Given the description of an element on the screen output the (x, y) to click on. 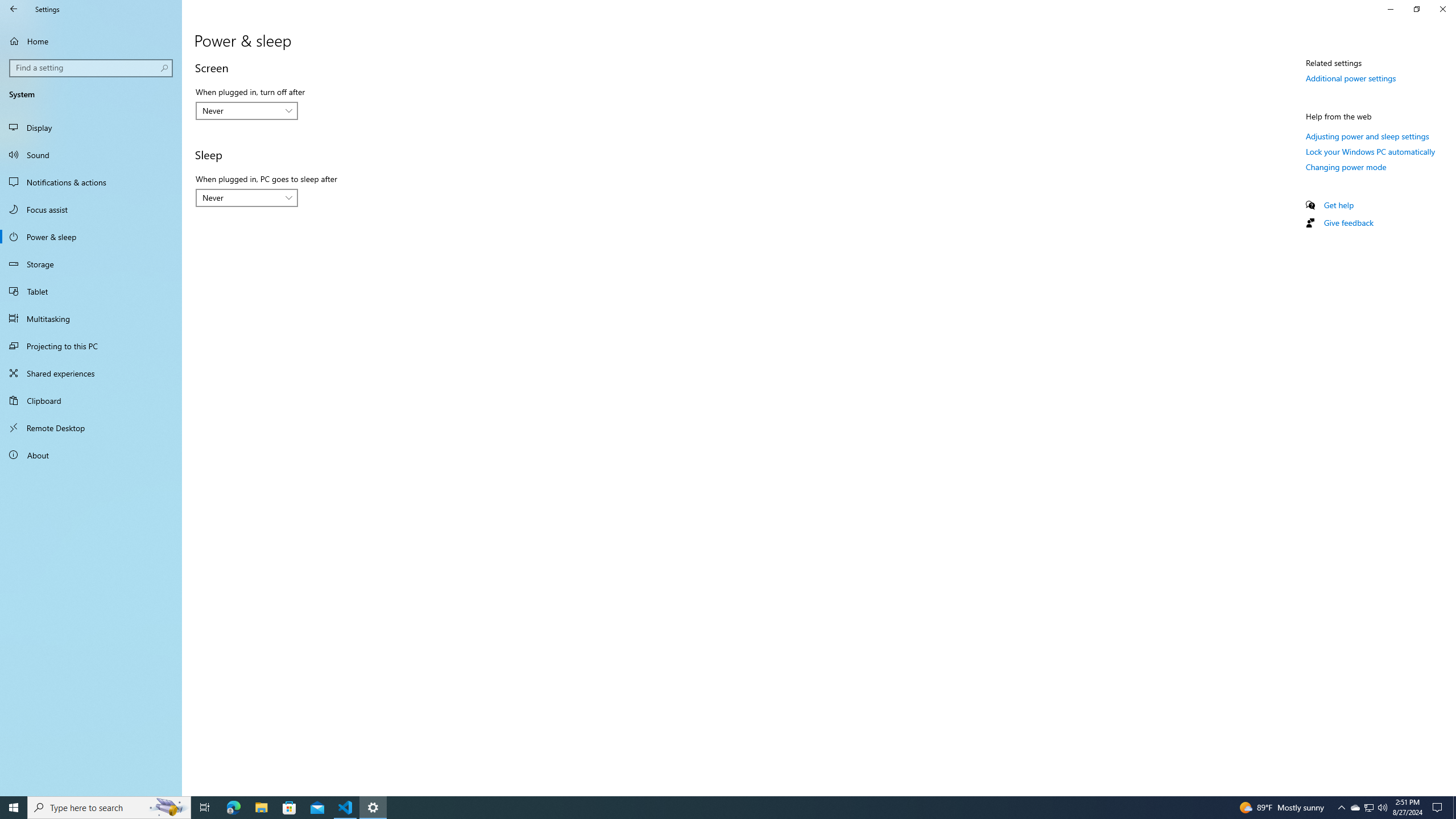
Additional power settings (1351, 77)
Adjusting power and sleep settings (1367, 136)
Remote Desktop (91, 427)
About (91, 454)
